Given the description of an element on the screen output the (x, y) to click on. 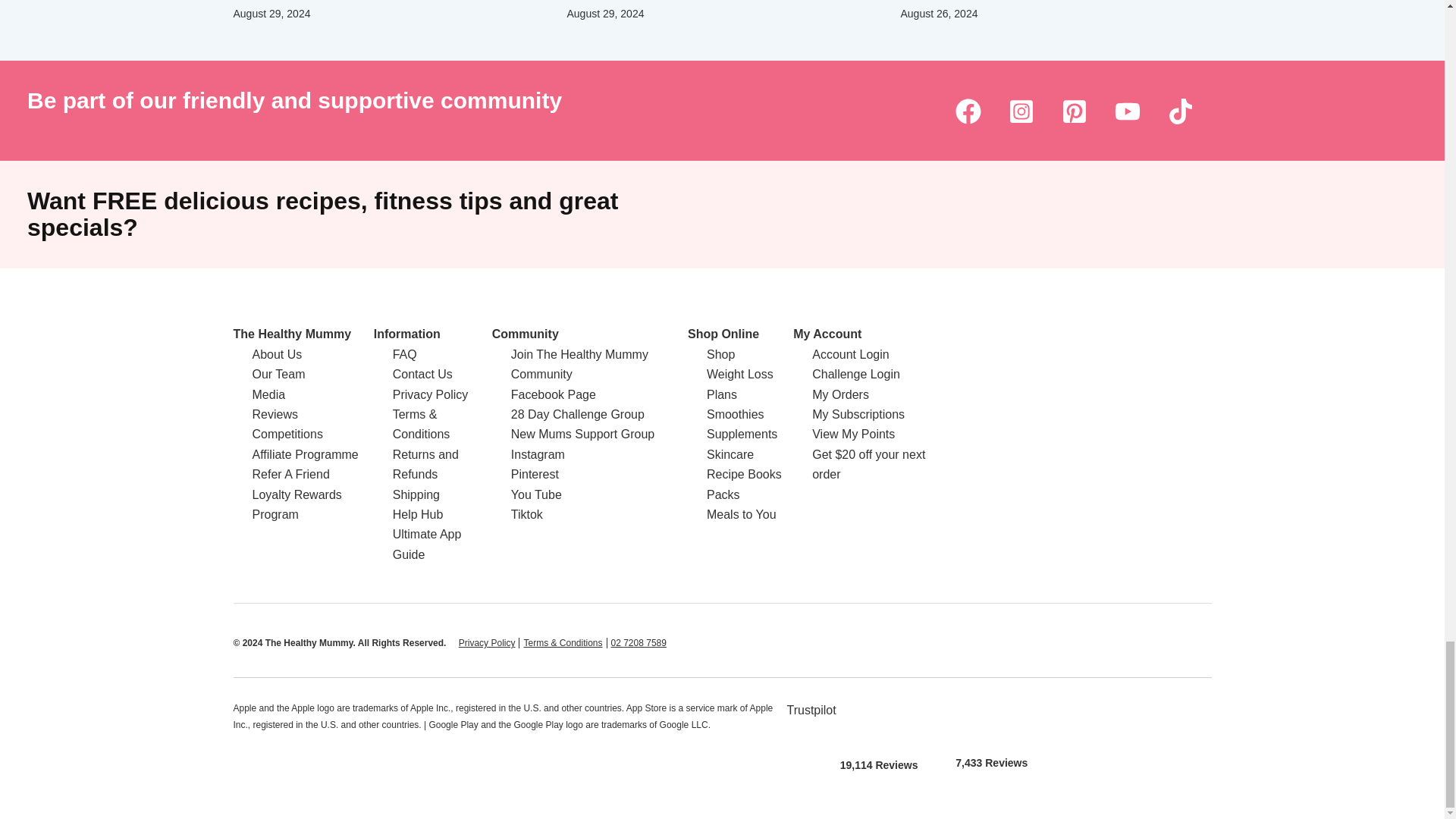
TikTok (1180, 111)
Pinterest (1074, 111)
The Healthy Mummy (292, 333)
download on google play (991, 718)
Facebook (968, 111)
download on apple (879, 720)
Join Our Affiliate Programme (304, 454)
Privacy Policy (486, 643)
Instagram (1020, 111)
You Tube (1127, 111)
